Given the description of an element on the screen output the (x, y) to click on. 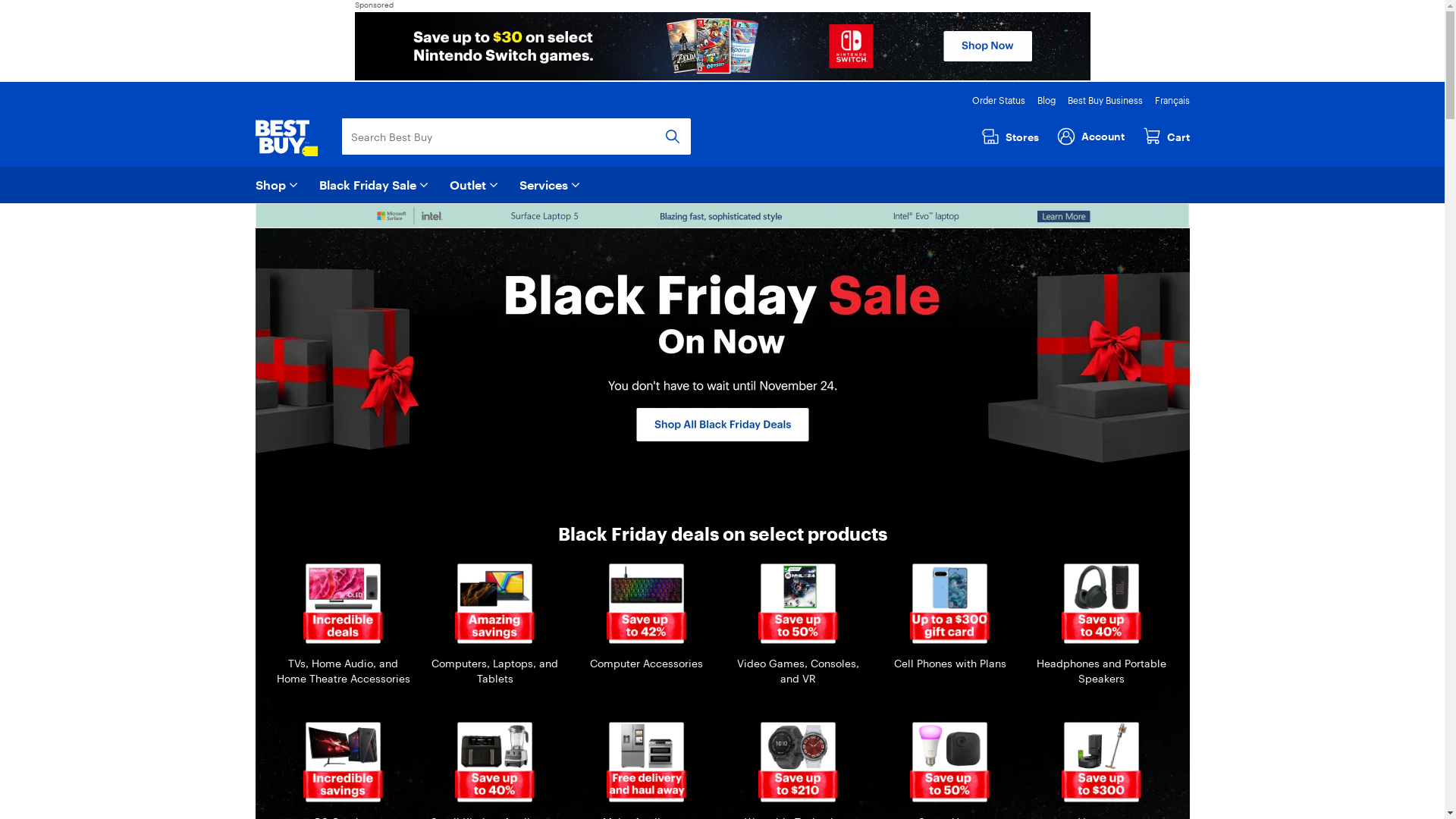
Cart Element type: text (1165, 136)
Stores Element type: text (1016, 136)
Best Buy Business Element type: text (1104, 100)
3rd party ad content Element type: hover (721, 215)
Services Element type: text (550, 184)
Computer Accessories Element type: text (645, 617)
Black Friday Sale Element type: text (374, 184)
TVs, Home Audio, and Home Theatre Accessories Element type: text (342, 625)
3rd party ad content Element type: hover (722, 46)
Computers, Laptops, and Tablets Element type: text (494, 625)
Blog Element type: text (1046, 100)
Order Status Element type: text (998, 100)
Account Element type: text (1095, 134)
Shop Element type: text (277, 184)
Cell Phones with Plans Element type: text (949, 617)
Headphones and Portable Speakers Element type: text (1100, 625)
Video Games, Consoles, and VR Element type: text (797, 625)
Outlet Element type: text (474, 184)
